Given the description of an element on the screen output the (x, y) to click on. 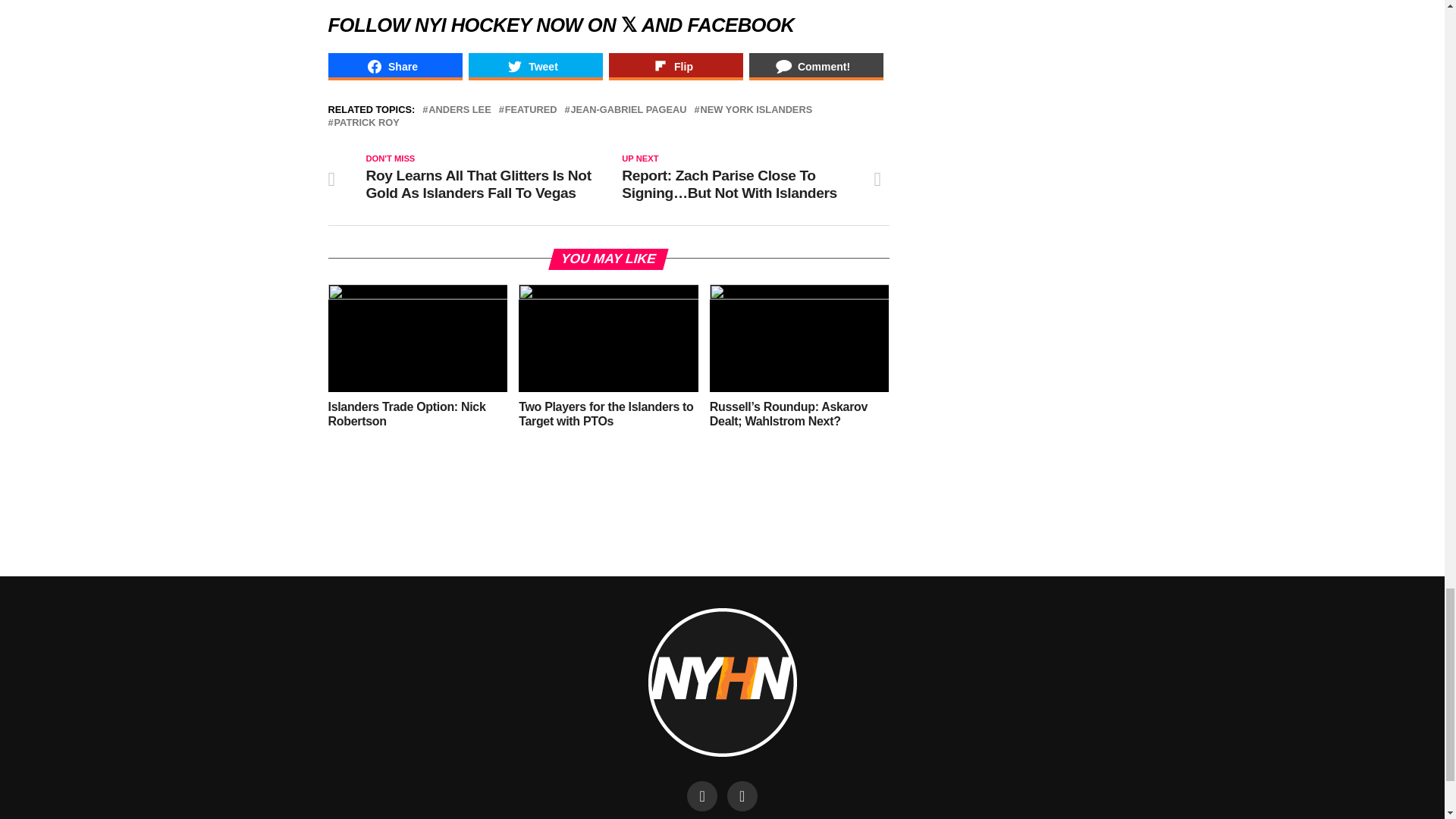
Share on Share (394, 66)
Share on Flip (675, 66)
Share on Comment! (816, 66)
Share on Tweet (535, 66)
